Given the description of an element on the screen output the (x, y) to click on. 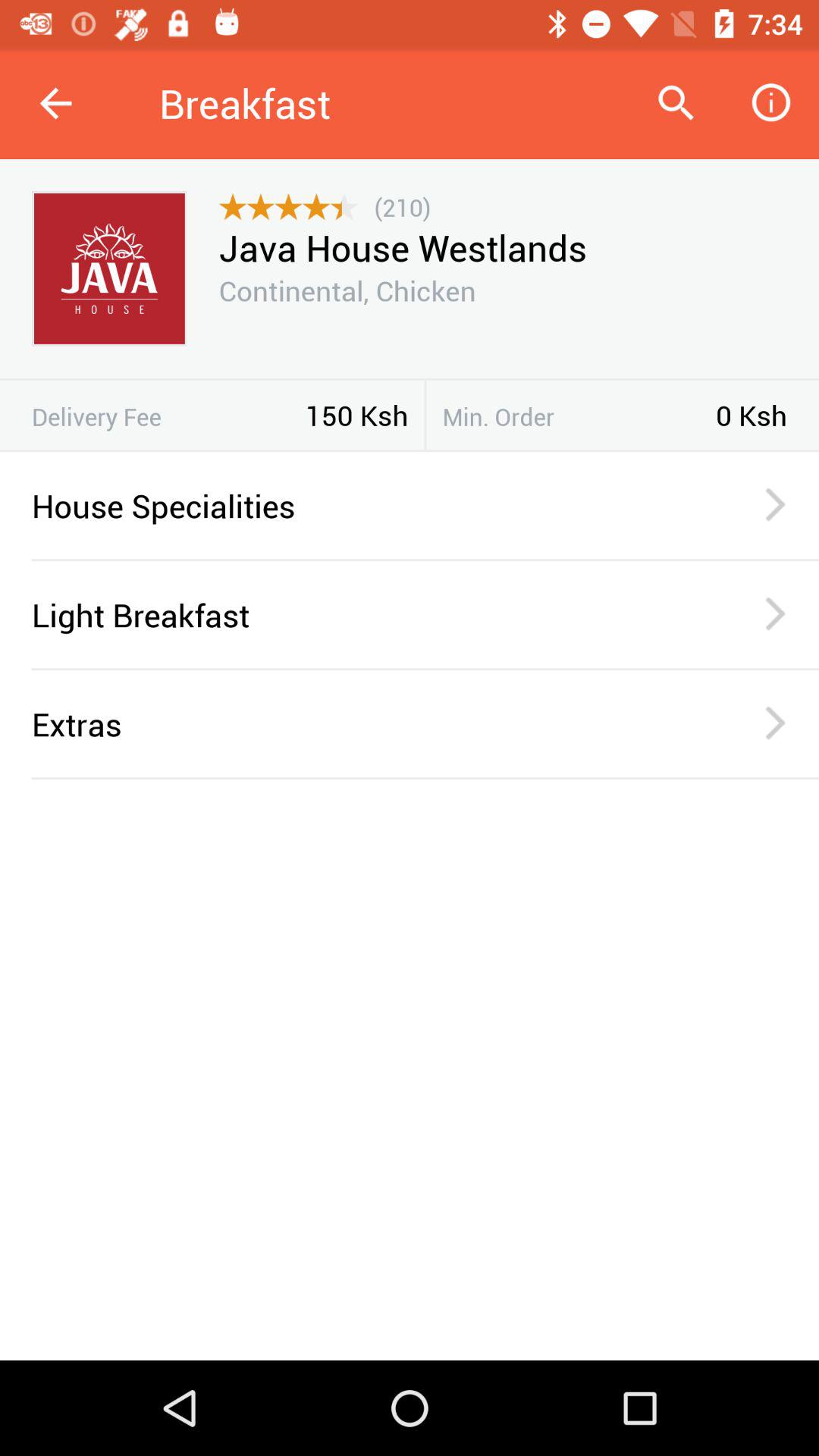
open the item above the continental, chicken item (402, 247)
